Given the description of an element on the screen output the (x, y) to click on. 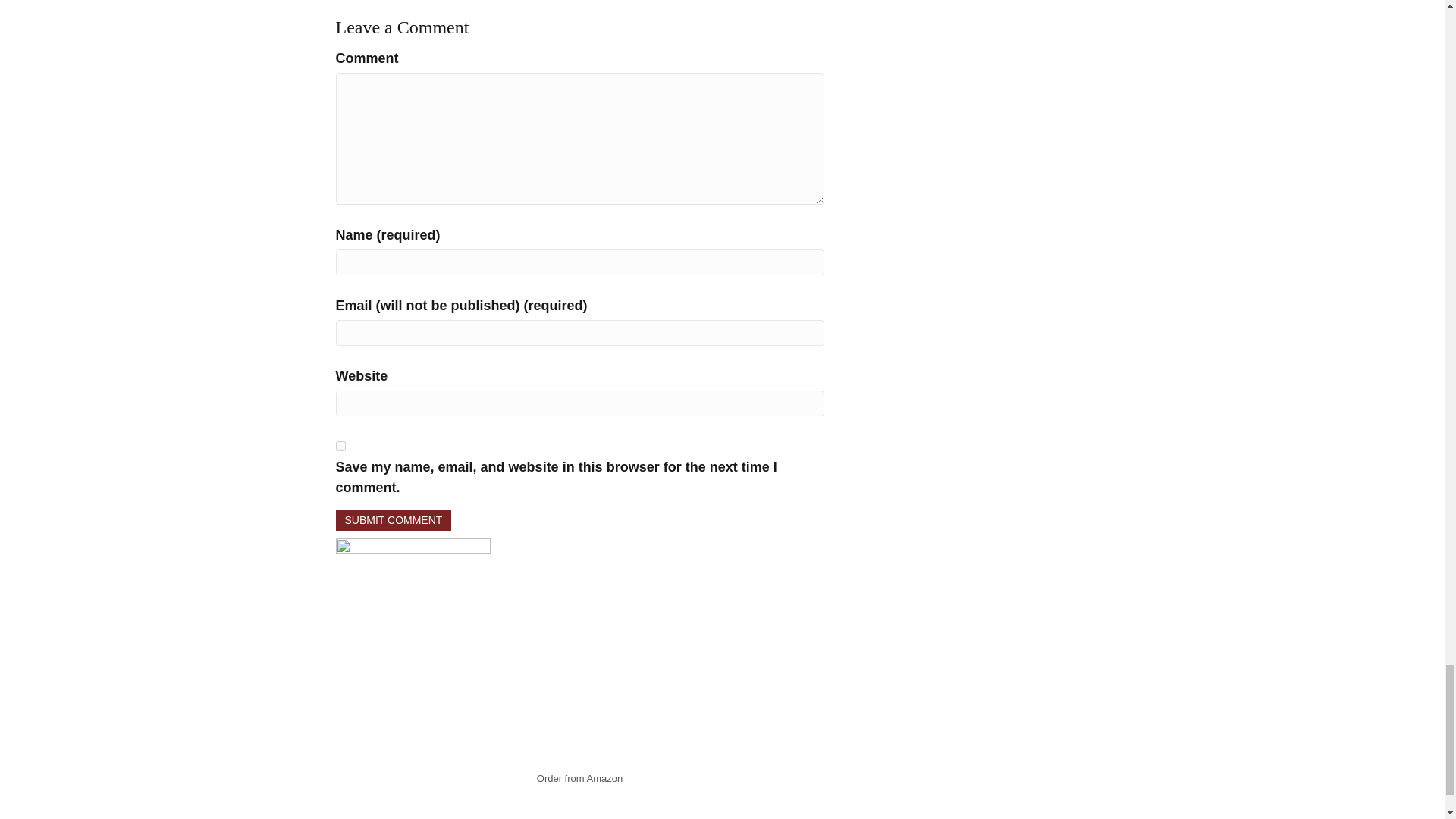
Submit Comment (392, 520)
yes (339, 446)
Submit Comment (392, 520)
